Given the description of an element on the screen output the (x, y) to click on. 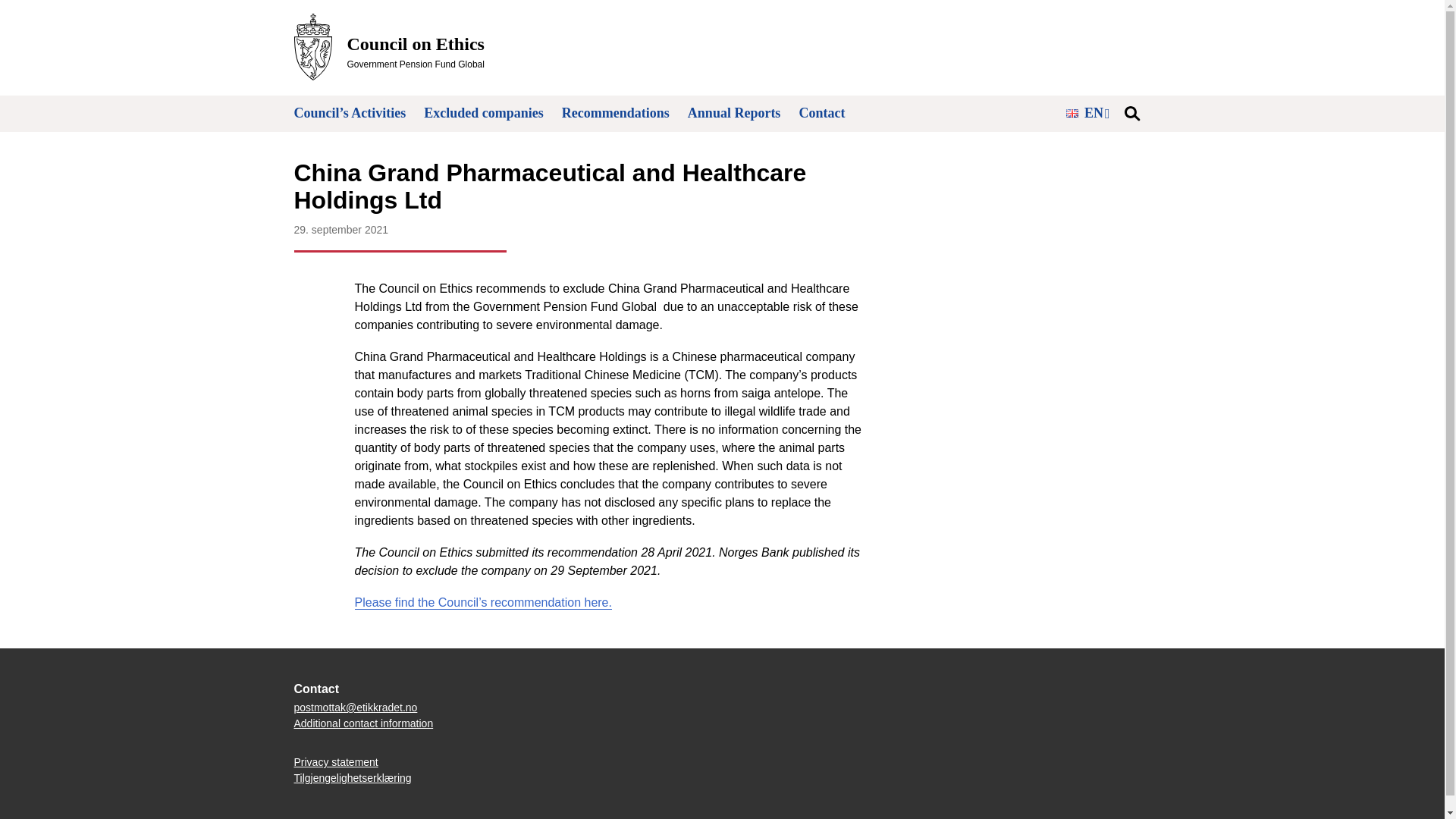
Privacy statement (336, 761)
Recommendations (615, 112)
Excluded companies (483, 112)
Contact (820, 112)
Additional contact information (363, 723)
Annual Reports (733, 112)
Til forside (389, 46)
EN (389, 46)
